Given the description of an element on the screen output the (x, y) to click on. 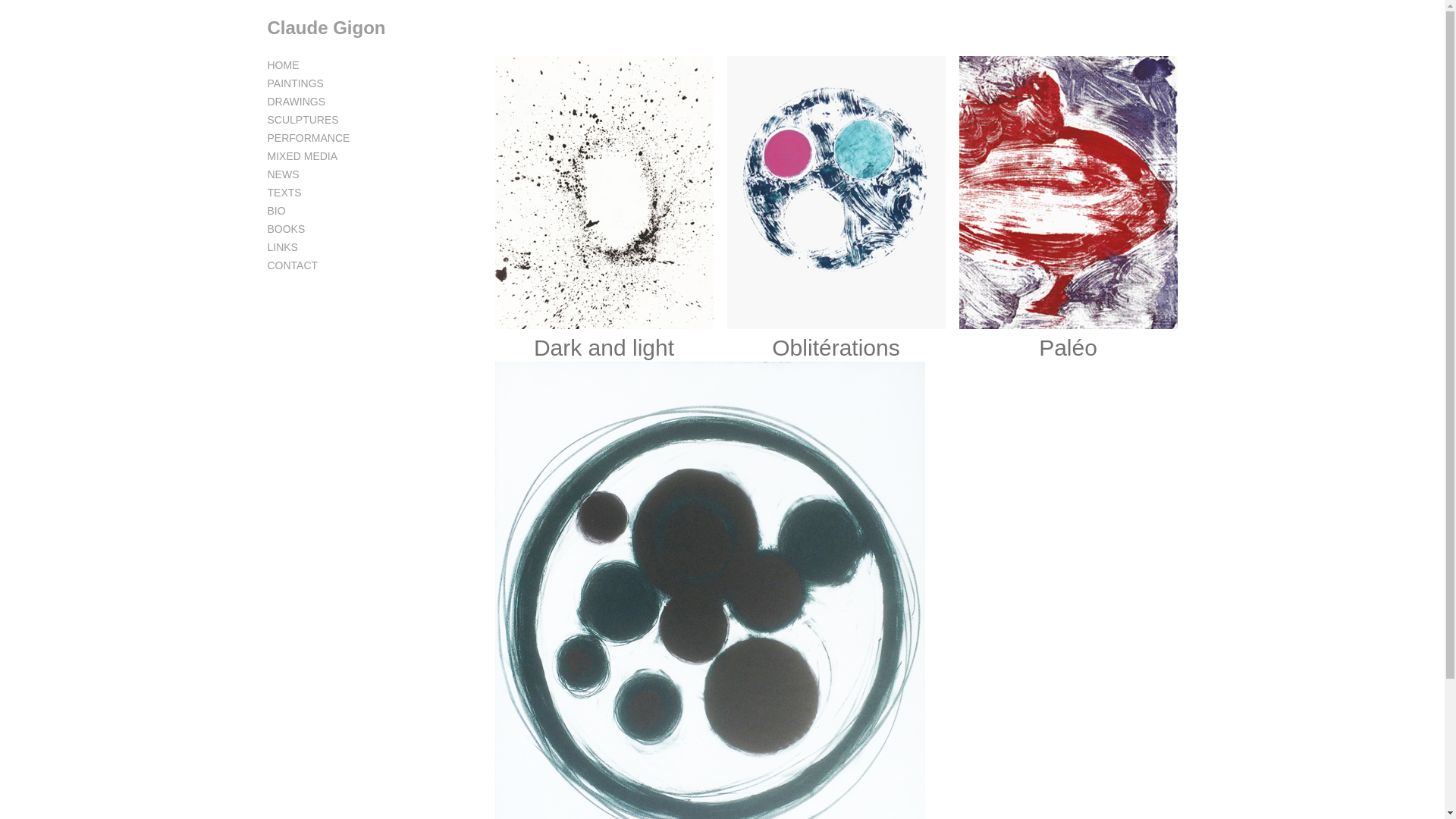
PERFORMANCE Element type: text (307, 137)
TEXTS Element type: text (283, 192)
DRAWINGS Element type: text (295, 101)
HOME Element type: text (282, 65)
BOOKS Element type: text (285, 228)
PAINTINGS Element type: text (294, 83)
CONTACT Element type: text (291, 265)
NEWS Element type: text (282, 174)
LINKS Element type: text (281, 247)
SCULPTURES Element type: text (302, 119)
BIO Element type: text (275, 210)
MIXED MEDIA Element type: text (301, 156)
